Given the description of an element on the screen output the (x, y) to click on. 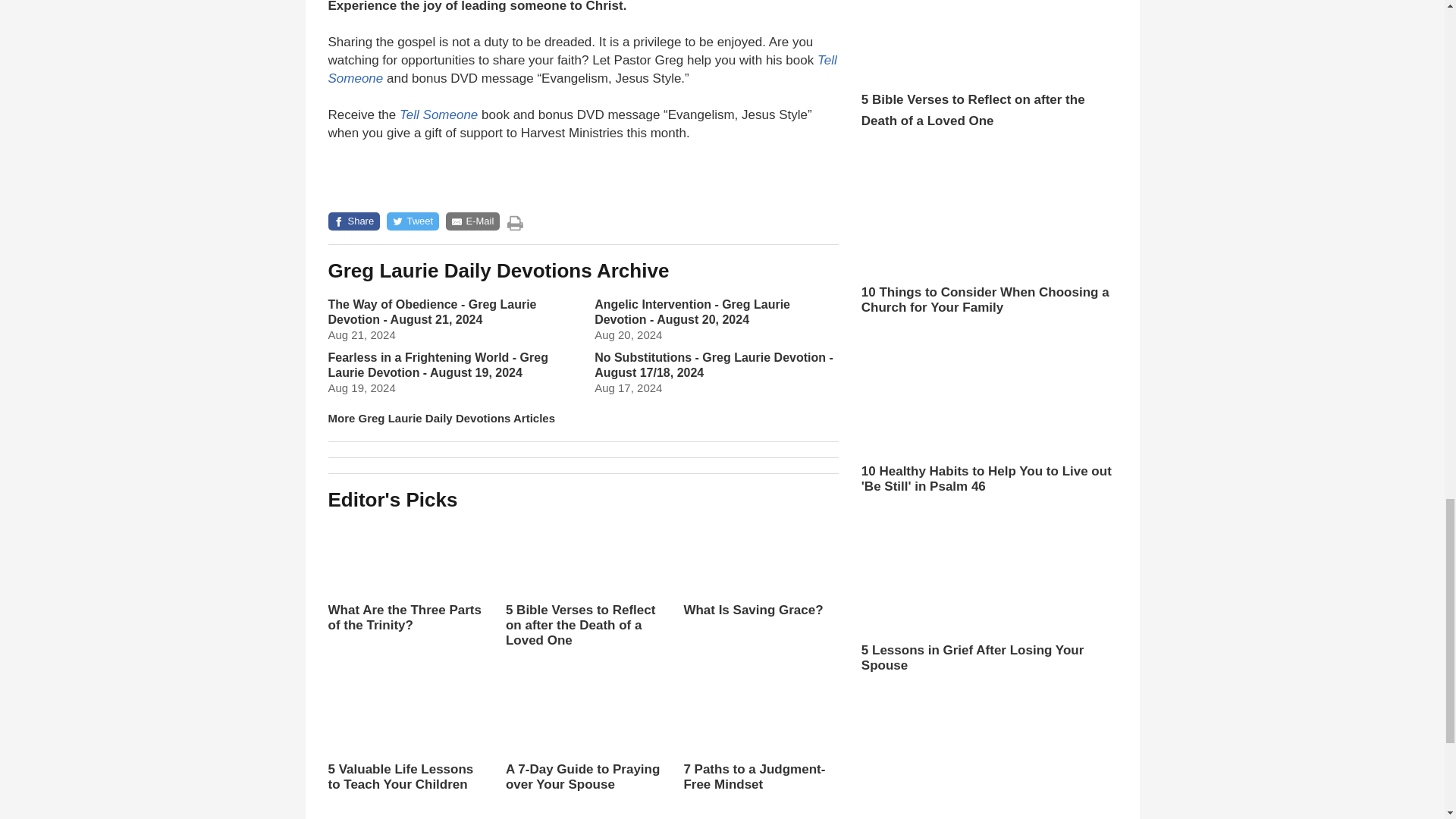
What Are the Three Parts of the Trinity? (404, 575)
7 Paths to a Judgment-Free Mindset (760, 734)
What Is Saving Grace? (760, 567)
5 Valuable Life Lessons to Teach Your Children (404, 734)
5 Bible Verses to Reflect on after the Death of a Loved One (583, 597)
A 7-Day Guide to Praying over Your Spouse (583, 748)
